Given the description of an element on the screen output the (x, y) to click on. 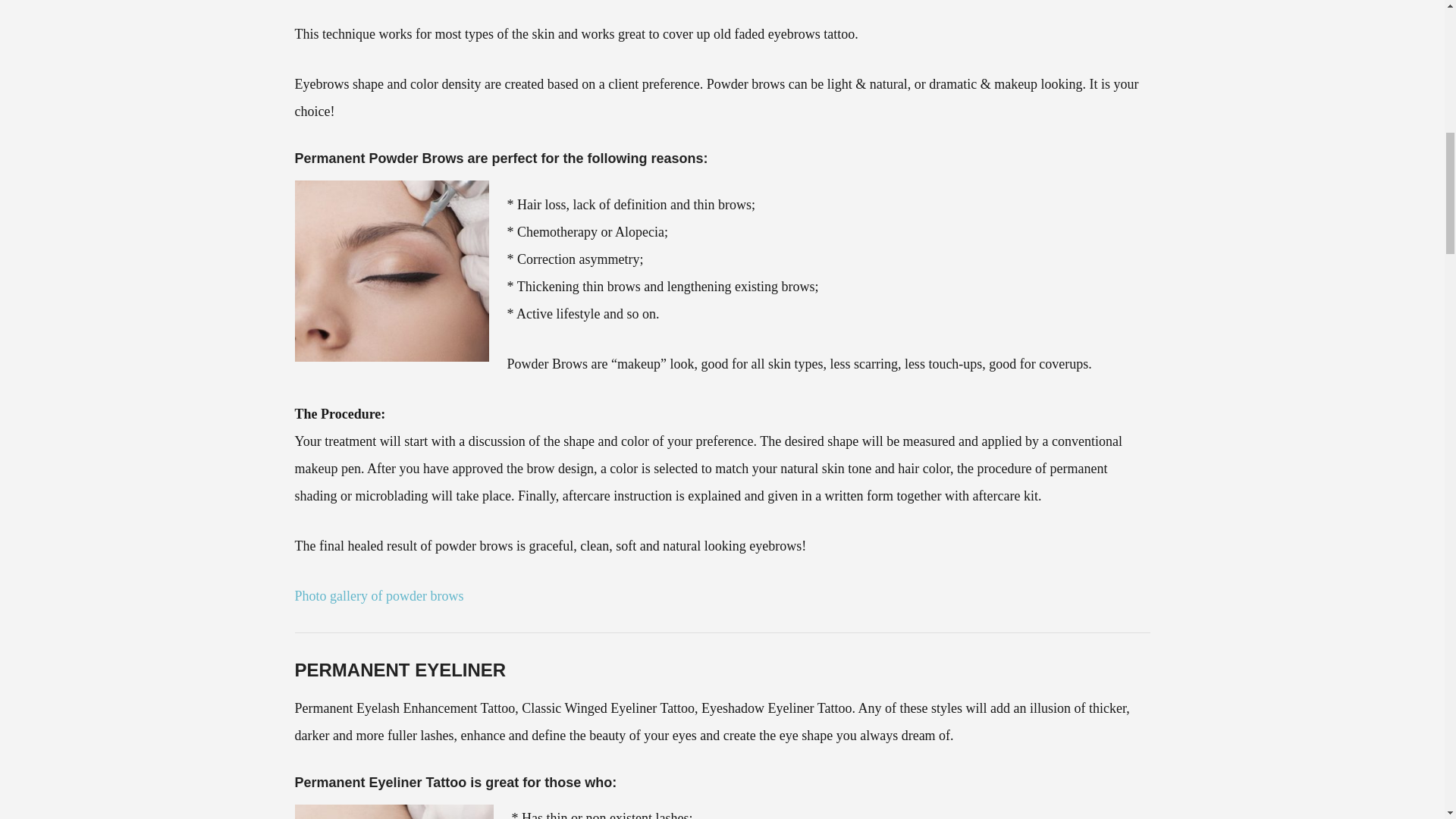
Photo gallery of powder brows (378, 595)
